Given the description of an element on the screen output the (x, y) to click on. 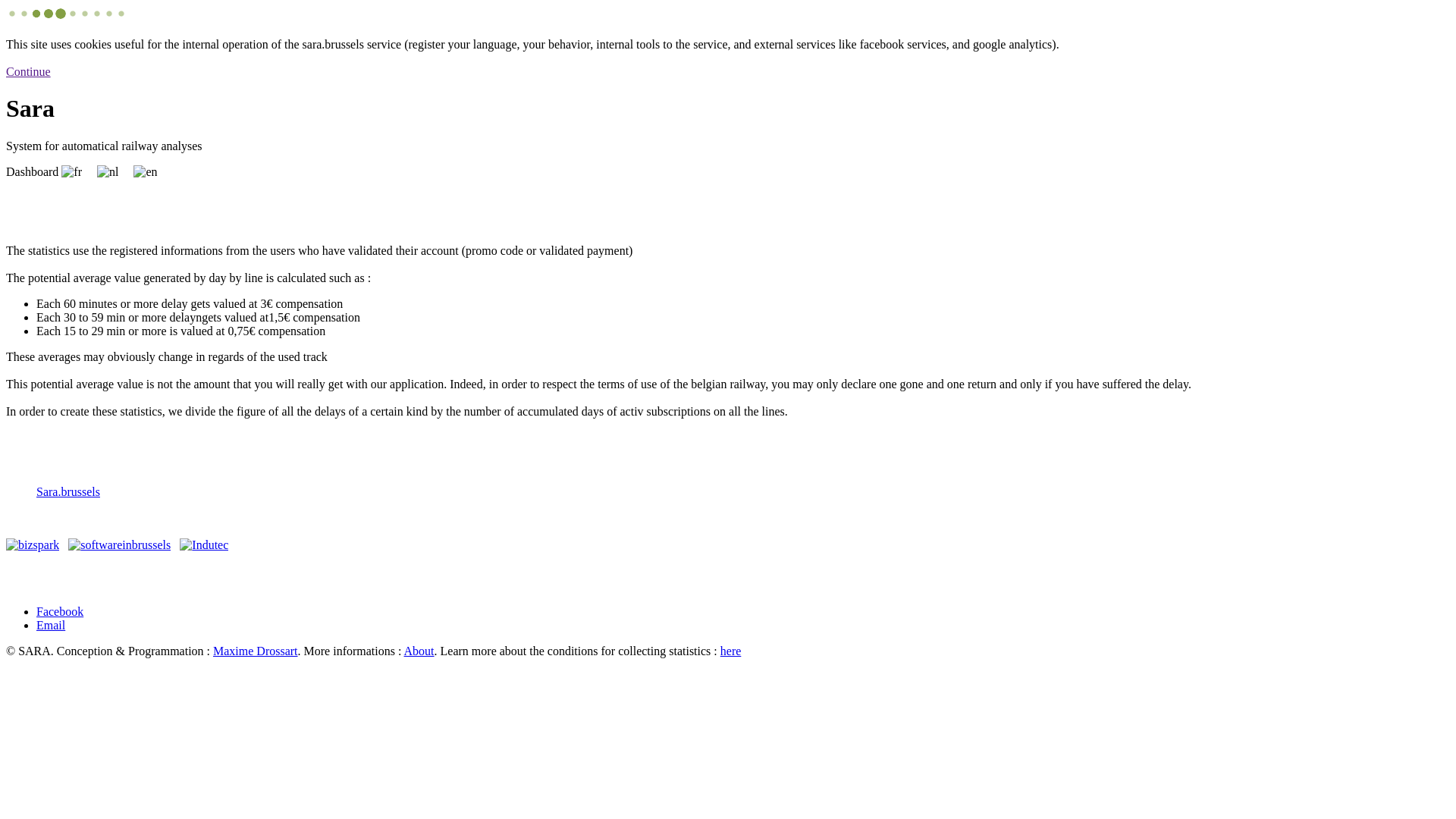
Continue Element type: text (28, 78)
Facebook Element type: text (59, 611)
Maxime Drossart Element type: text (255, 650)
Email Element type: text (50, 624)
Sara.brussels Element type: text (68, 491)
About Element type: text (419, 650)
here Element type: text (730, 650)
